Given the description of an element on the screen output the (x, y) to click on. 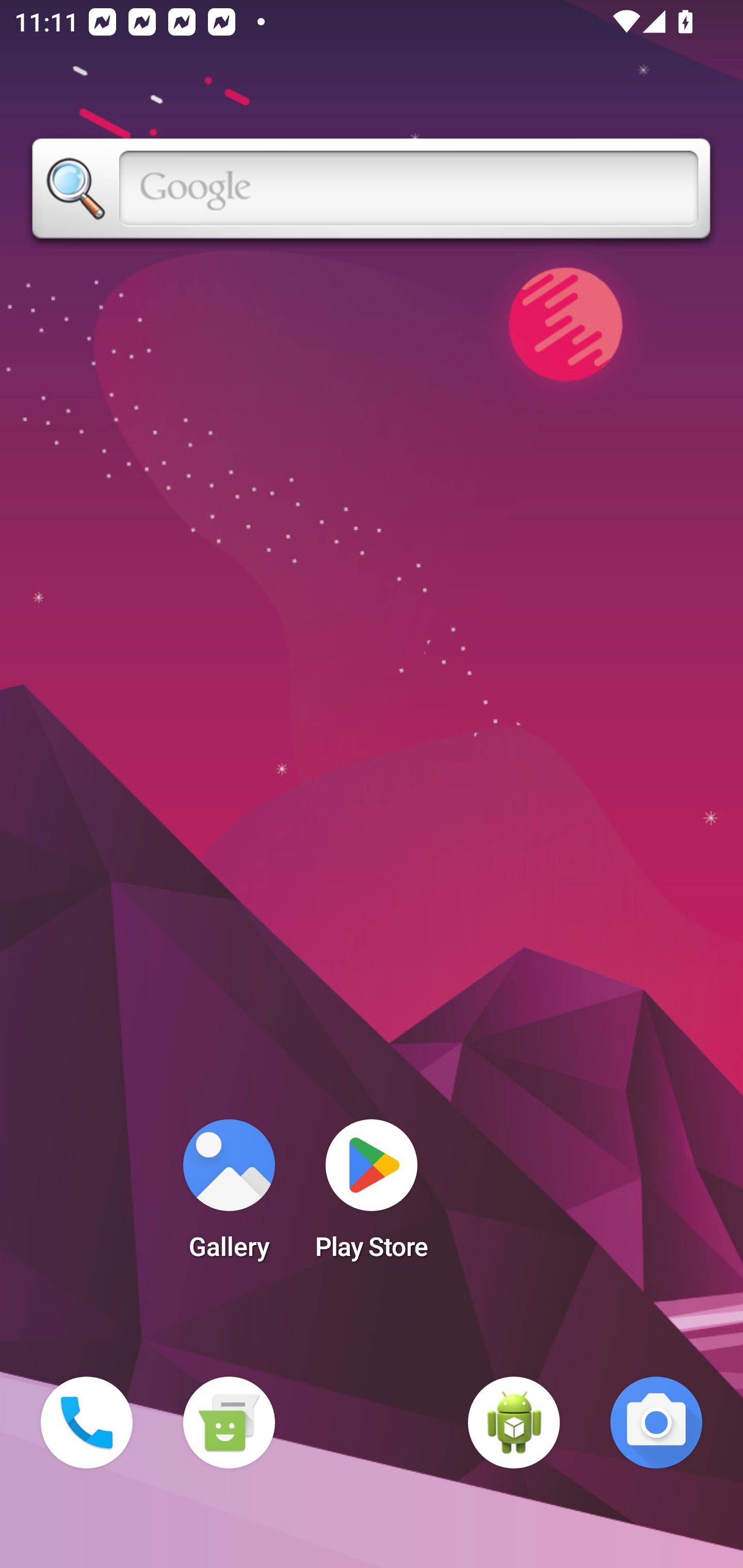
Gallery (228, 1195)
Play Store (371, 1195)
Phone (86, 1422)
Messaging (228, 1422)
WebView Browser Tester (513, 1422)
Camera (656, 1422)
